Given the description of an element on the screen output the (x, y) to click on. 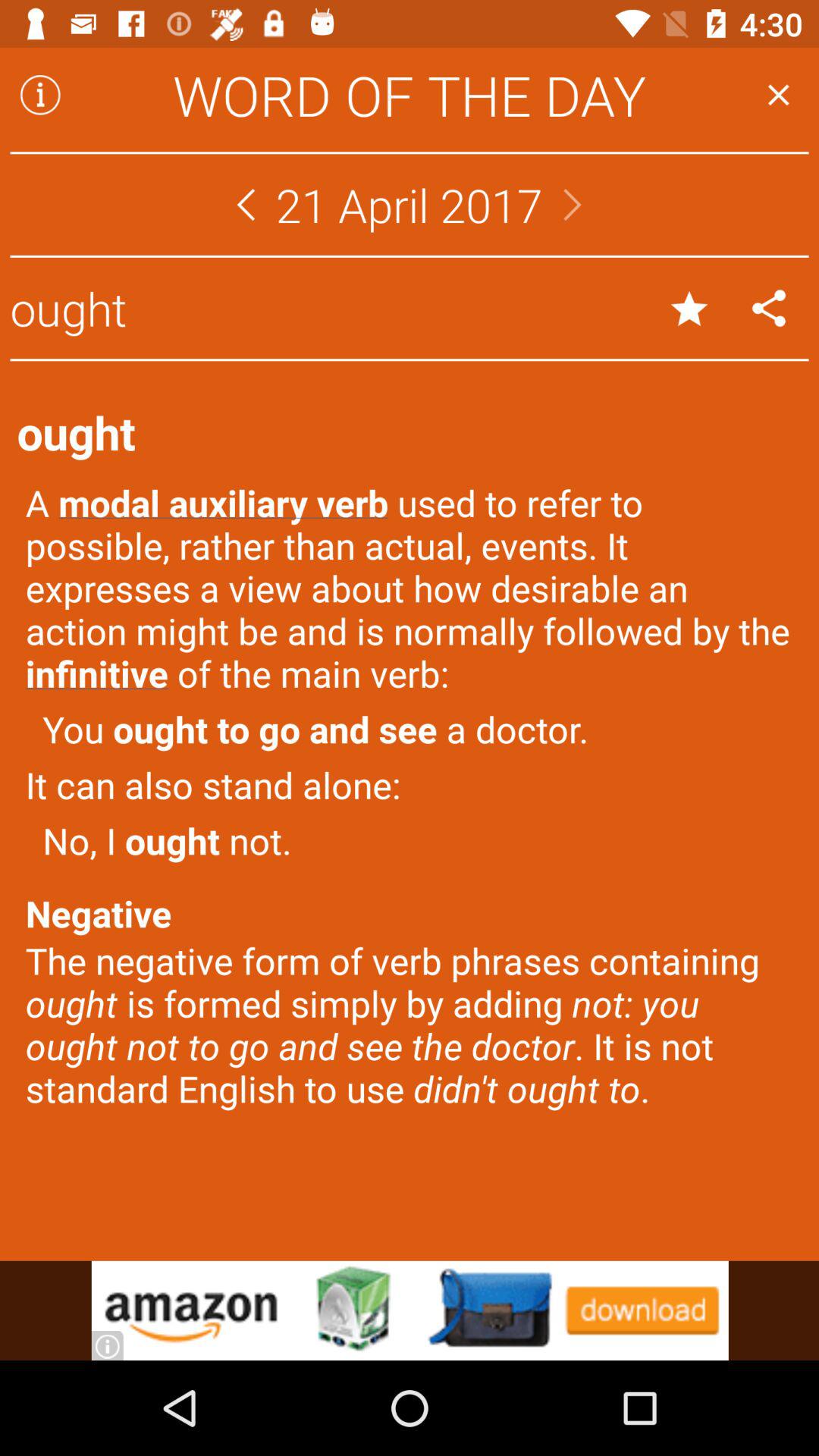
advertesement (409, 1310)
